Given the description of an element on the screen output the (x, y) to click on. 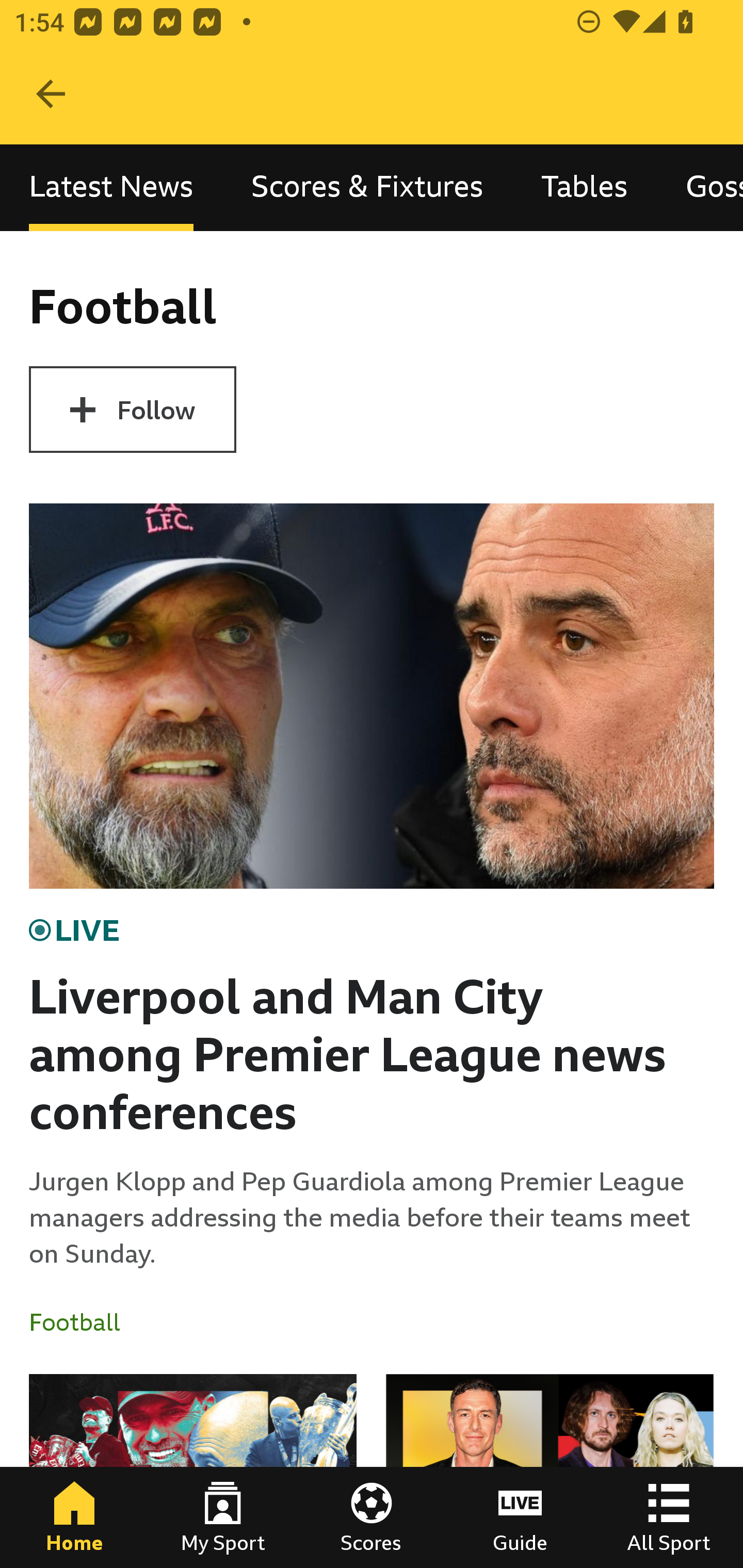
Navigate up (50, 93)
Latest News, selected Latest News (111, 187)
Scores & Fixtures (367, 187)
Tables (584, 187)
Follow Football Follow (132, 409)
My Sport (222, 1517)
Scores (371, 1517)
Guide (519, 1517)
All Sport (668, 1517)
